Given the description of an element on the screen output the (x, y) to click on. 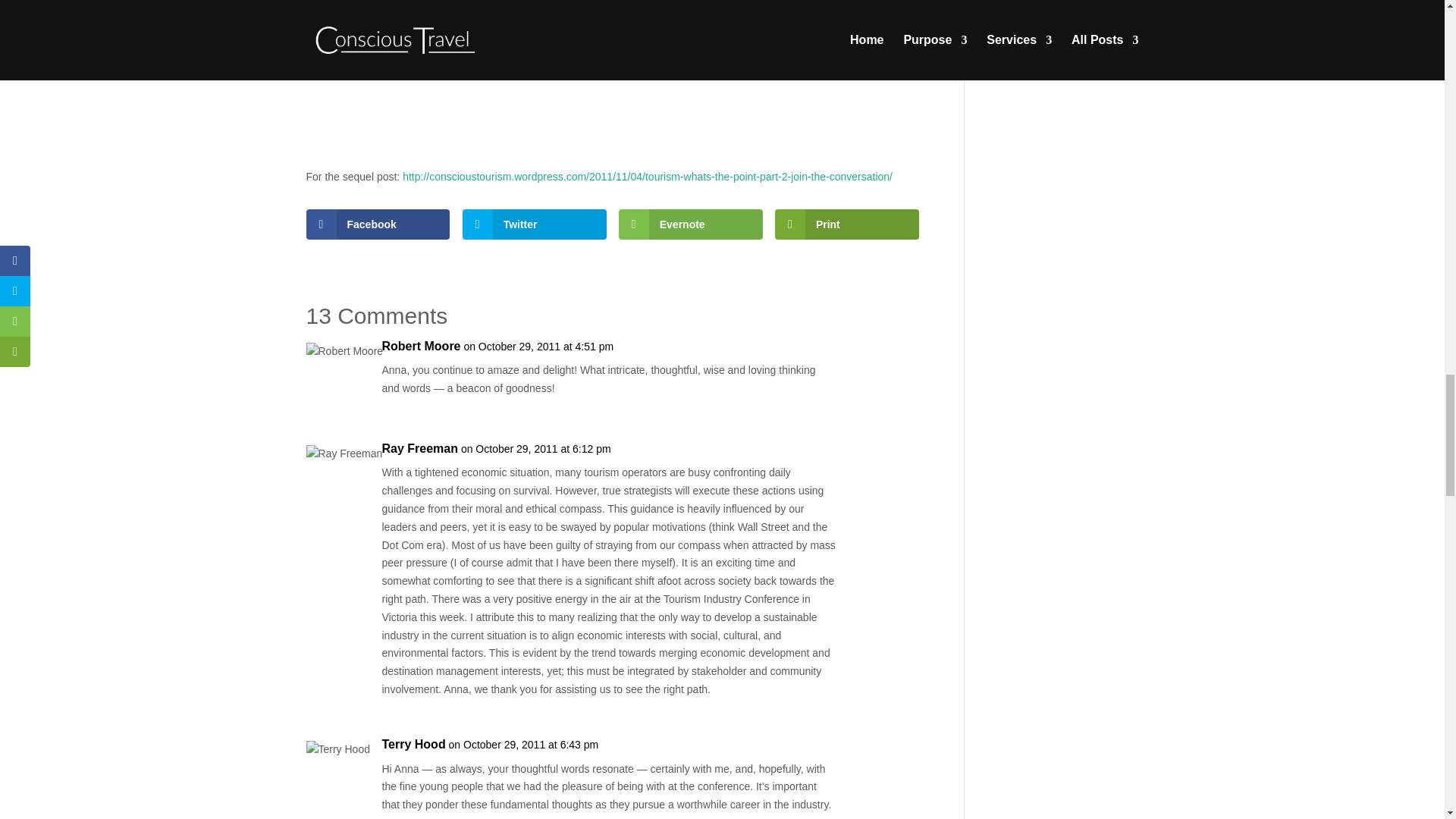
Facebook (377, 224)
Evernote (690, 224)
Twitter (535, 224)
Print (846, 224)
Robert Moore (421, 346)
